Given the description of an element on the screen output the (x, y) to click on. 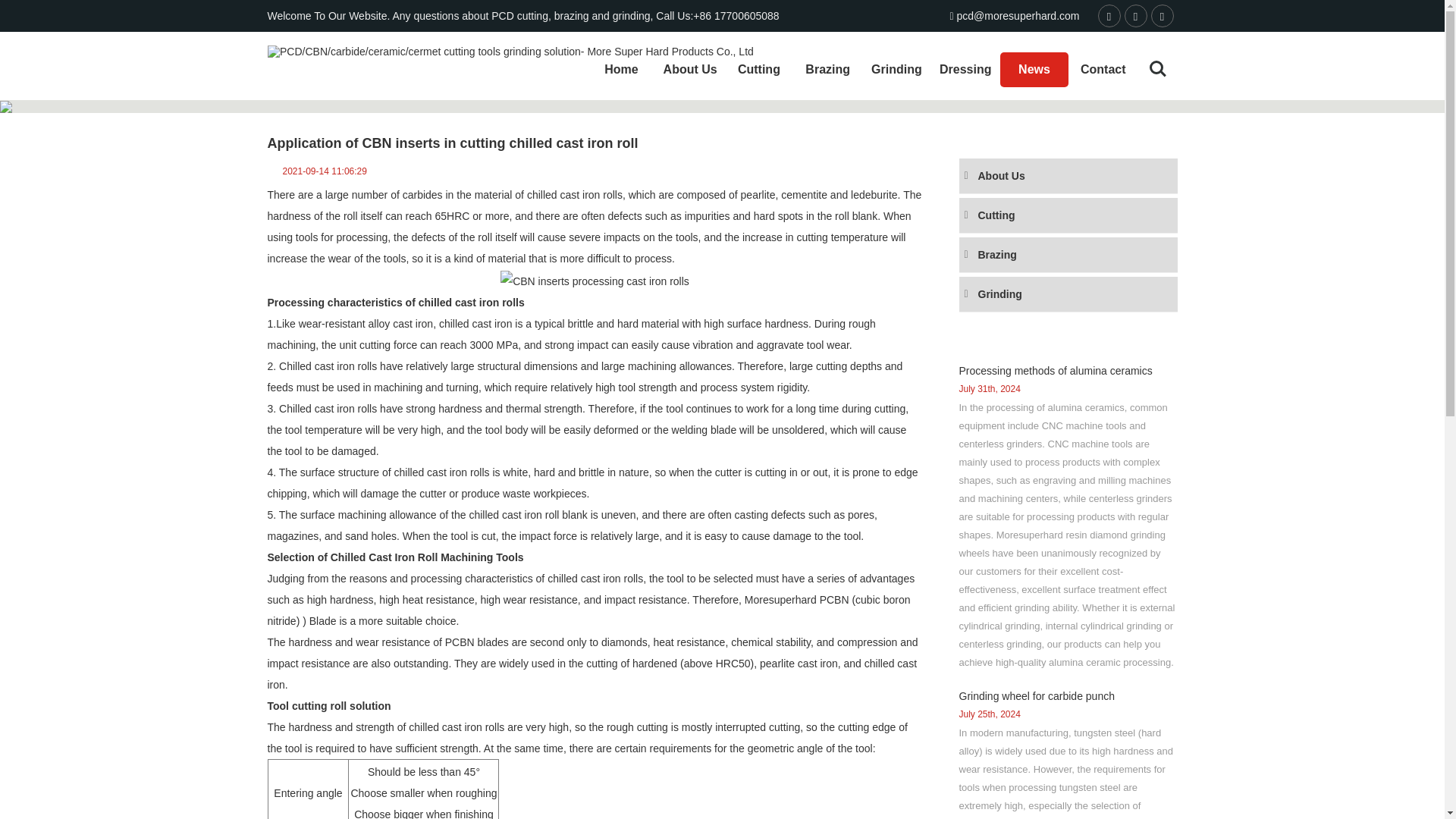
Home (621, 69)
Home (845, 80)
facebook (1110, 16)
Contact (1102, 69)
Application of CBN inserts in cutting chilled cast iron roll (1046, 80)
pcd grinding (594, 279)
News (1033, 69)
linkedin (1137, 16)
Dressing (964, 69)
pcd grinding (476, 642)
Brazing (827, 69)
pcd grinding (588, 610)
Application of CBN inserts in cutting chilled cast iron roll (1046, 80)
PCBN blades (476, 642)
youtube (1164, 16)
